Given the description of an element on the screen output the (x, y) to click on. 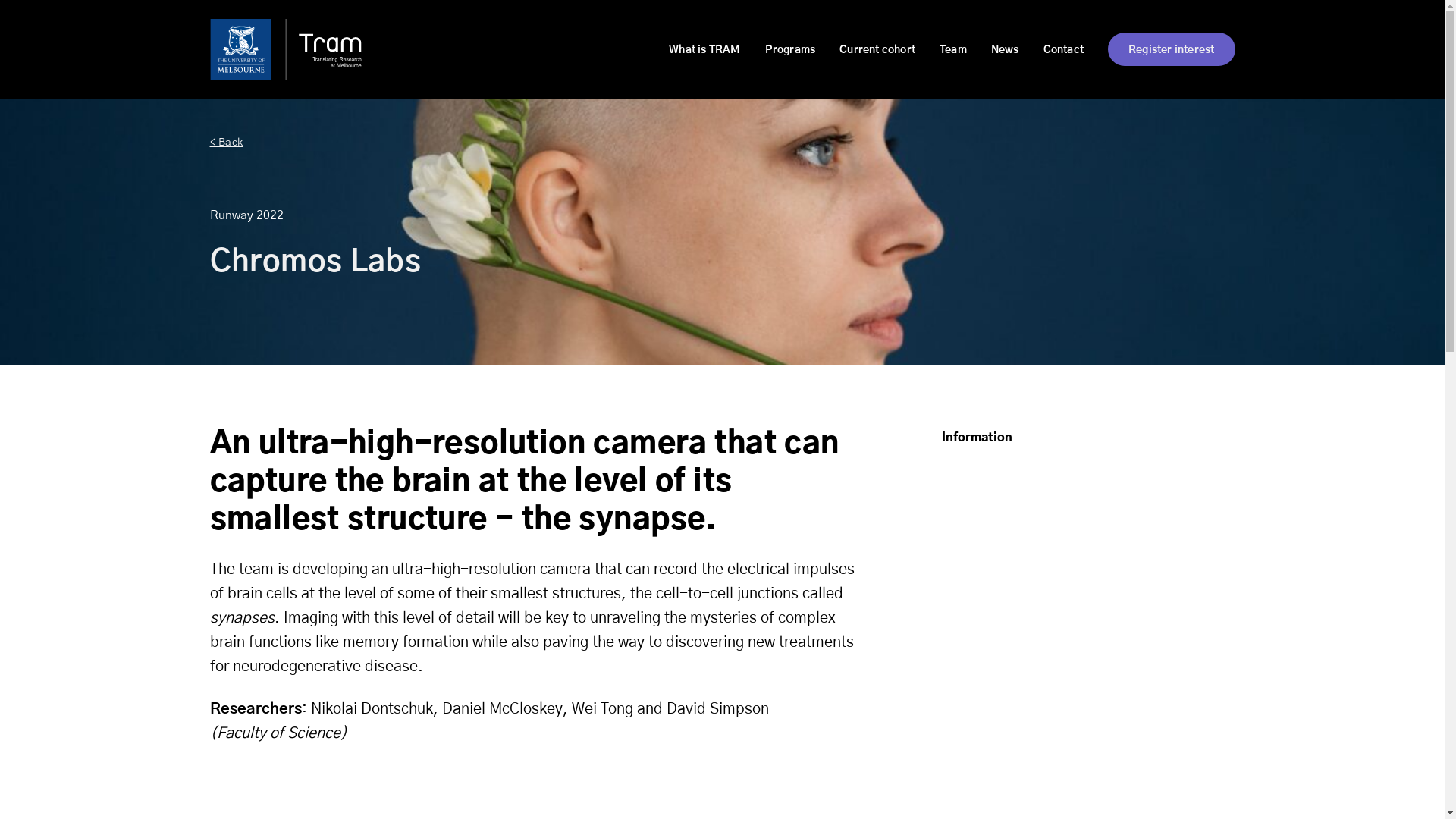
Programs Element type: text (777, 49)
Team Element type: text (940, 49)
Contact Element type: text (1051, 49)
Current cohort Element type: text (865, 49)
< Back Element type: text (721, 142)
News Element type: text (992, 49)
Register interest Element type: text (1170, 48)
TRAM Element type: text (284, 48)
What is TRAM Element type: text (692, 49)
